Given the description of an element on the screen output the (x, y) to click on. 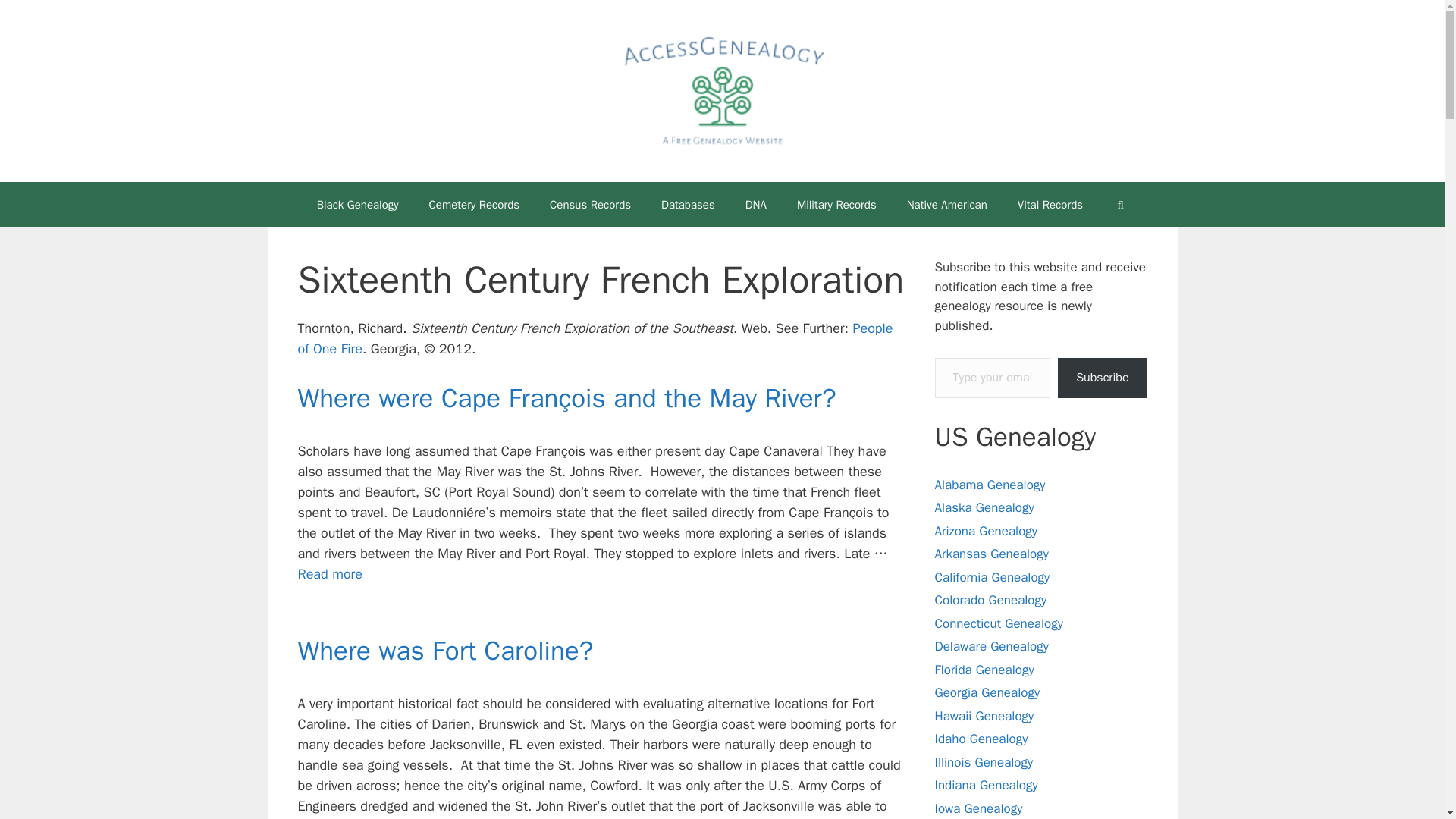
Where was Fort Caroline? (444, 650)
Cemetery Records (474, 204)
Native American History and Genealogy (947, 204)
Genealogy Databases (688, 204)
United States Cemetery Records (474, 204)
Read more (329, 573)
Where was Fort Caroline? (390, 818)
Native American (947, 204)
United States Vital Records (1050, 204)
Military Records (836, 204)
